Given the description of an element on the screen output the (x, y) to click on. 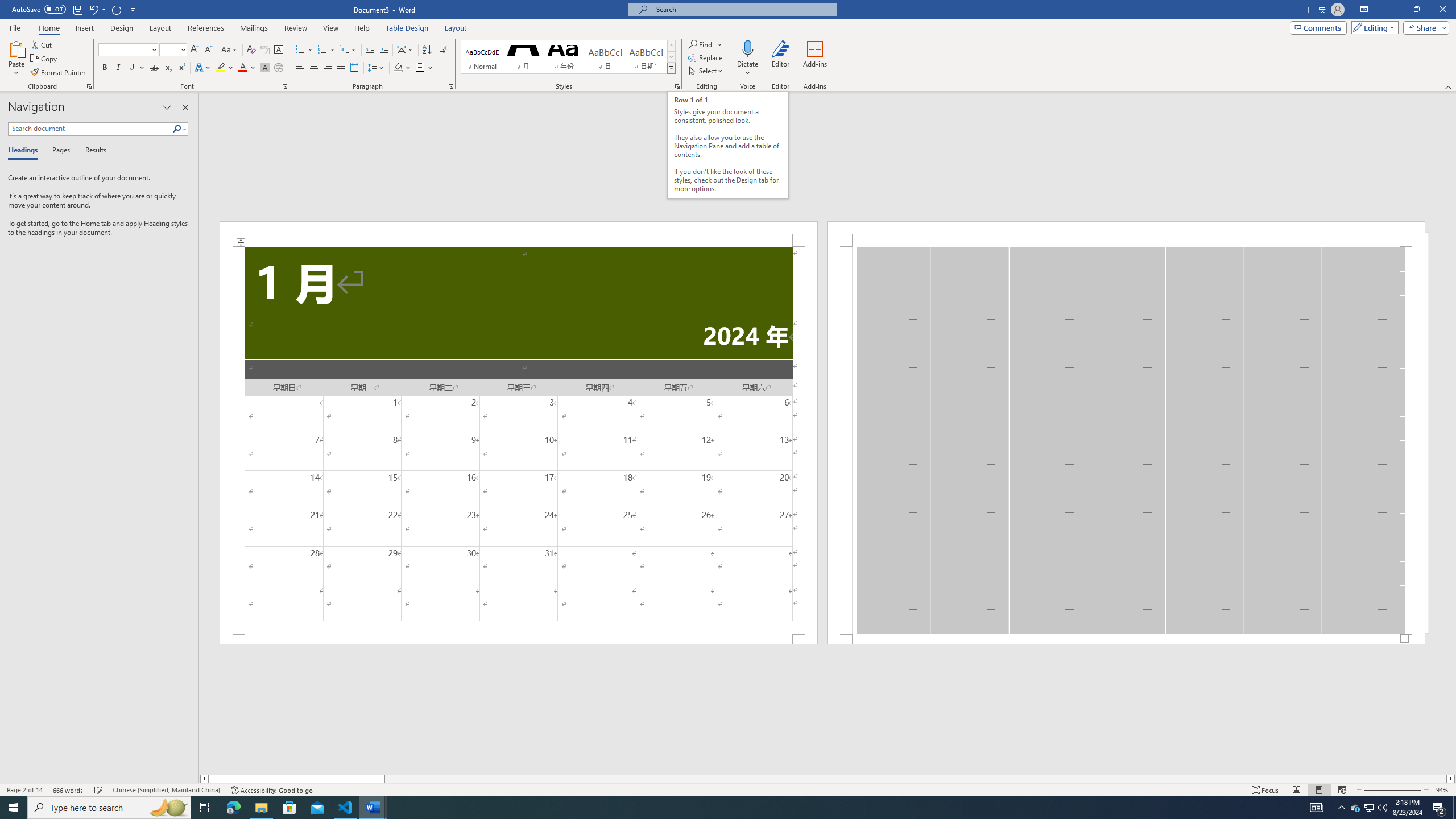
Page Number Page 2 of 14 (24, 790)
